Given the description of an element on the screen output the (x, y) to click on. 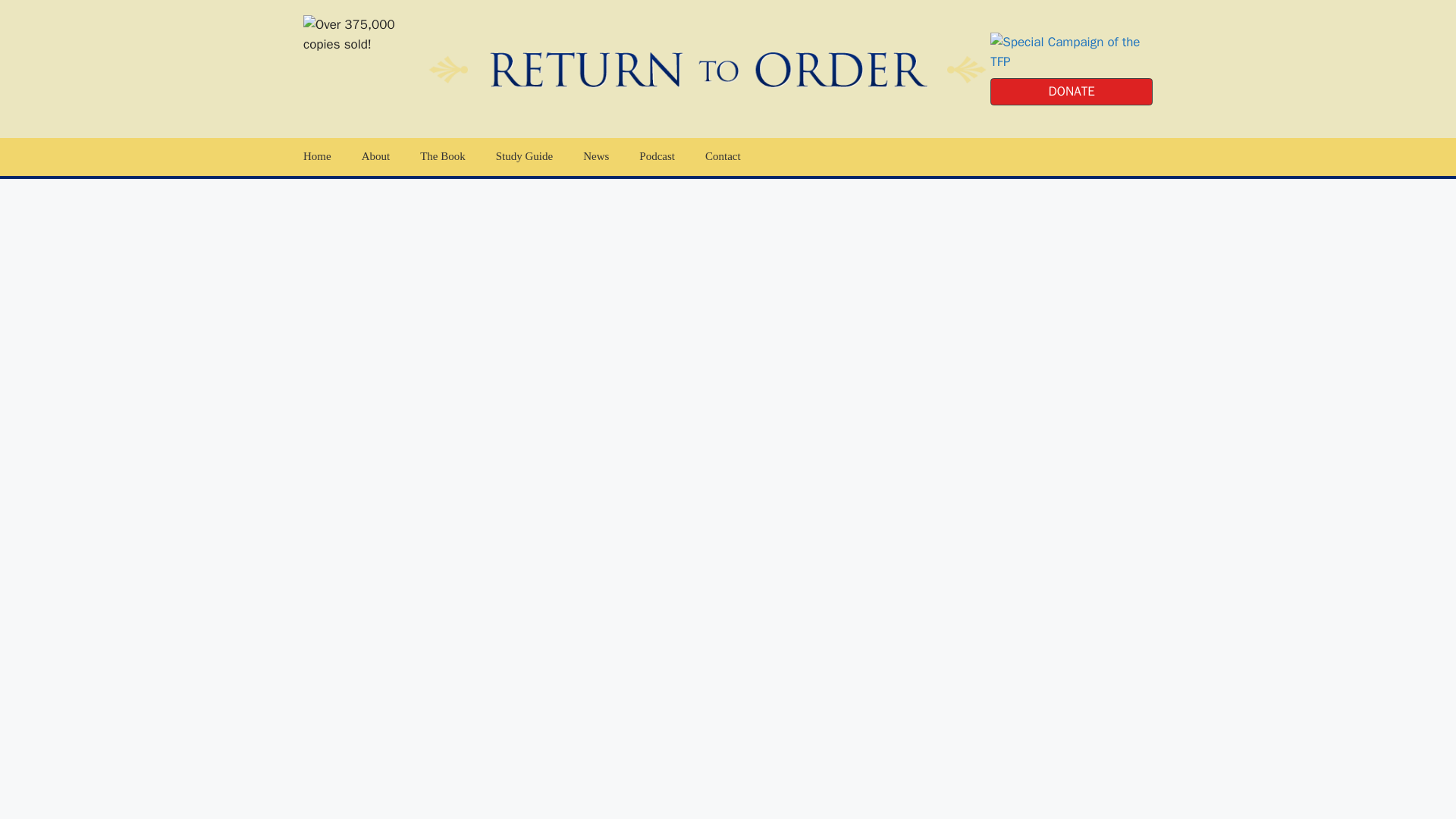
Podcast (521, 157)
Home (657, 157)
DONATE (317, 157)
The Book (1071, 91)
Study Guide (442, 157)
News (523, 157)
About (595, 157)
